Given the description of an element on the screen output the (x, y) to click on. 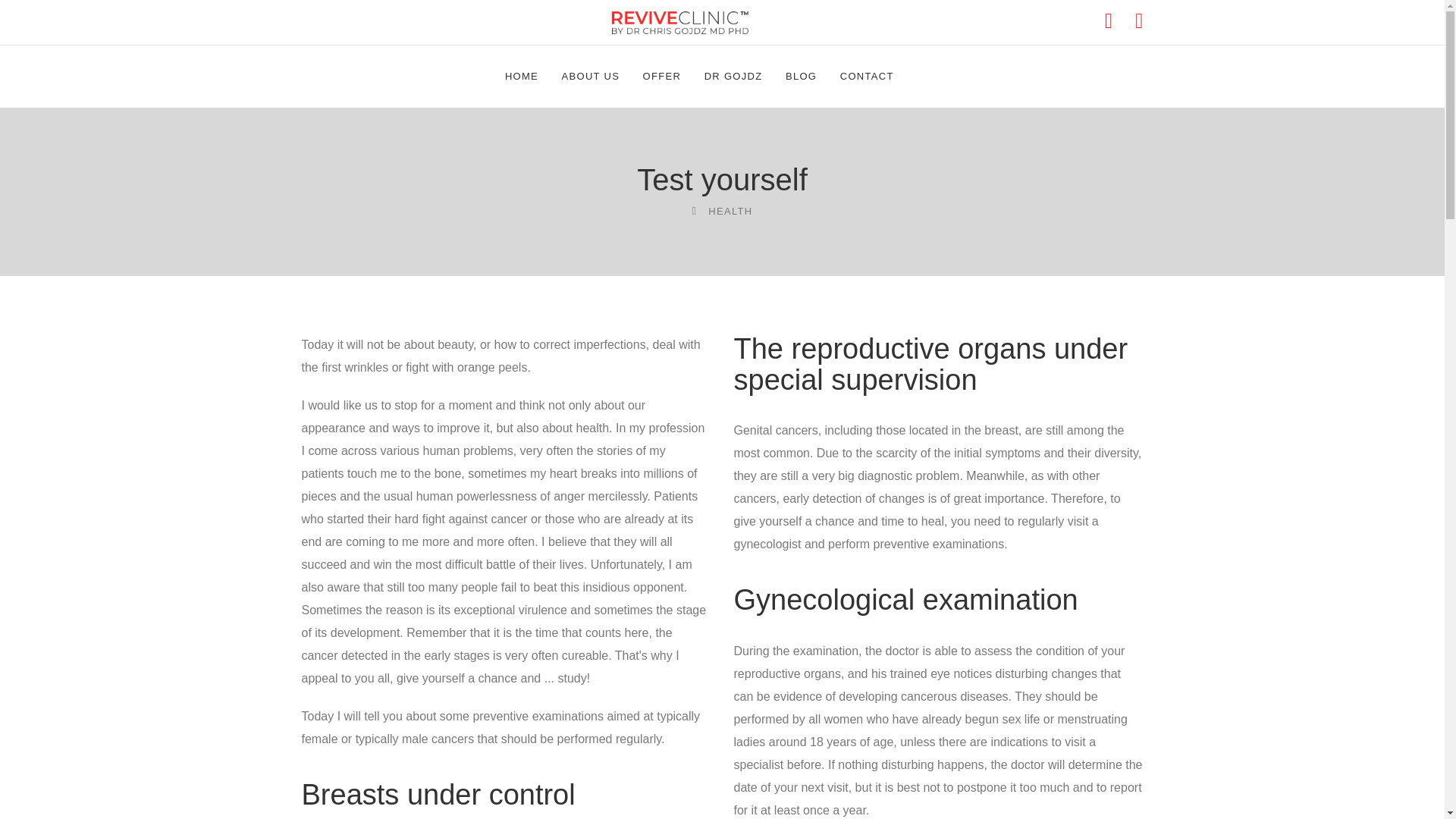
ABOUT US (591, 76)
DR GOJDZ (733, 76)
HEALTH (729, 210)
